Given the description of an element on the screen output the (x, y) to click on. 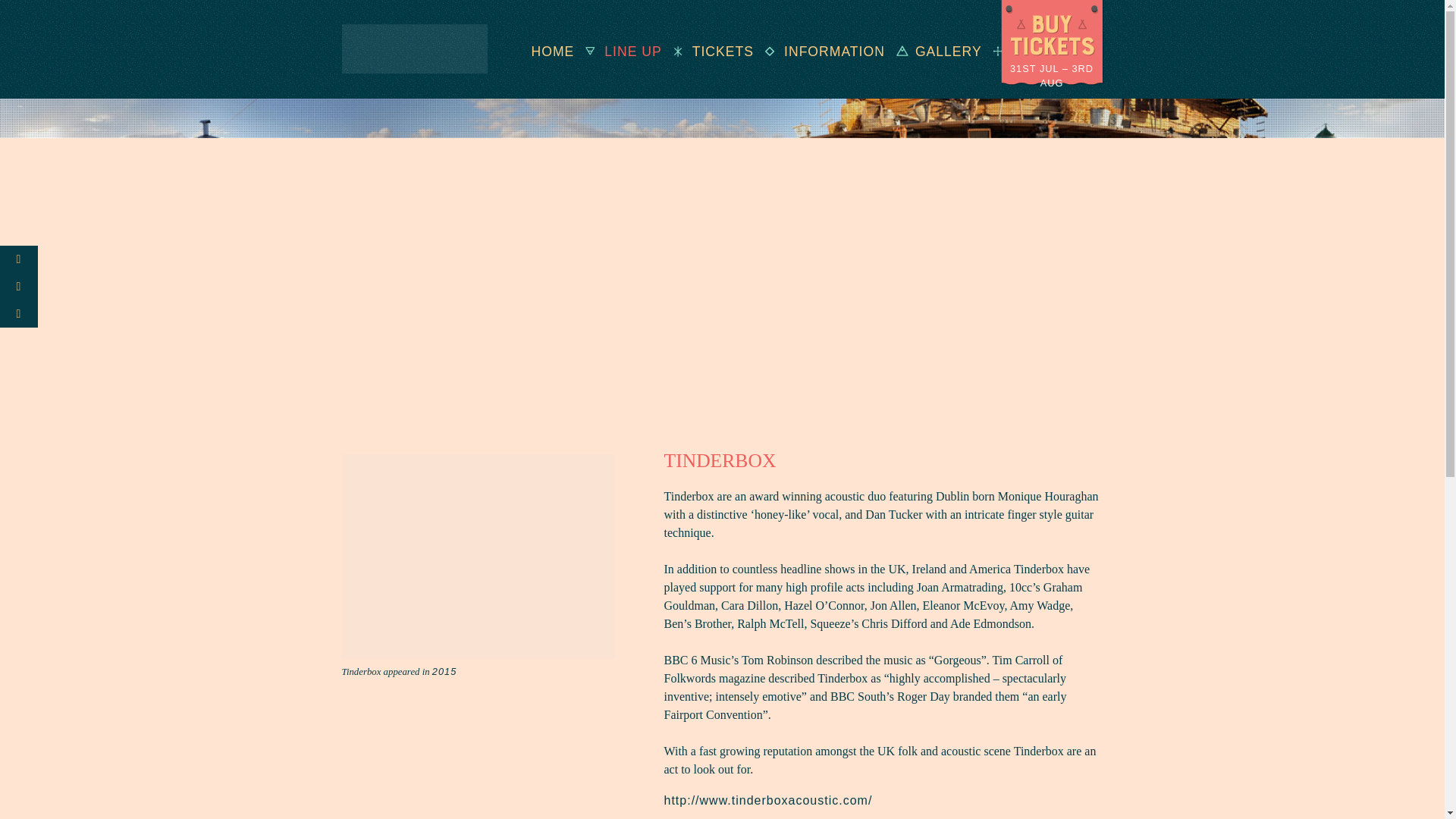
TICKETS (708, 51)
HOME (536, 51)
LINE UP (617, 51)
INFORMATION (819, 51)
GALLERY (933, 51)
